Given the description of an element on the screen output the (x, y) to click on. 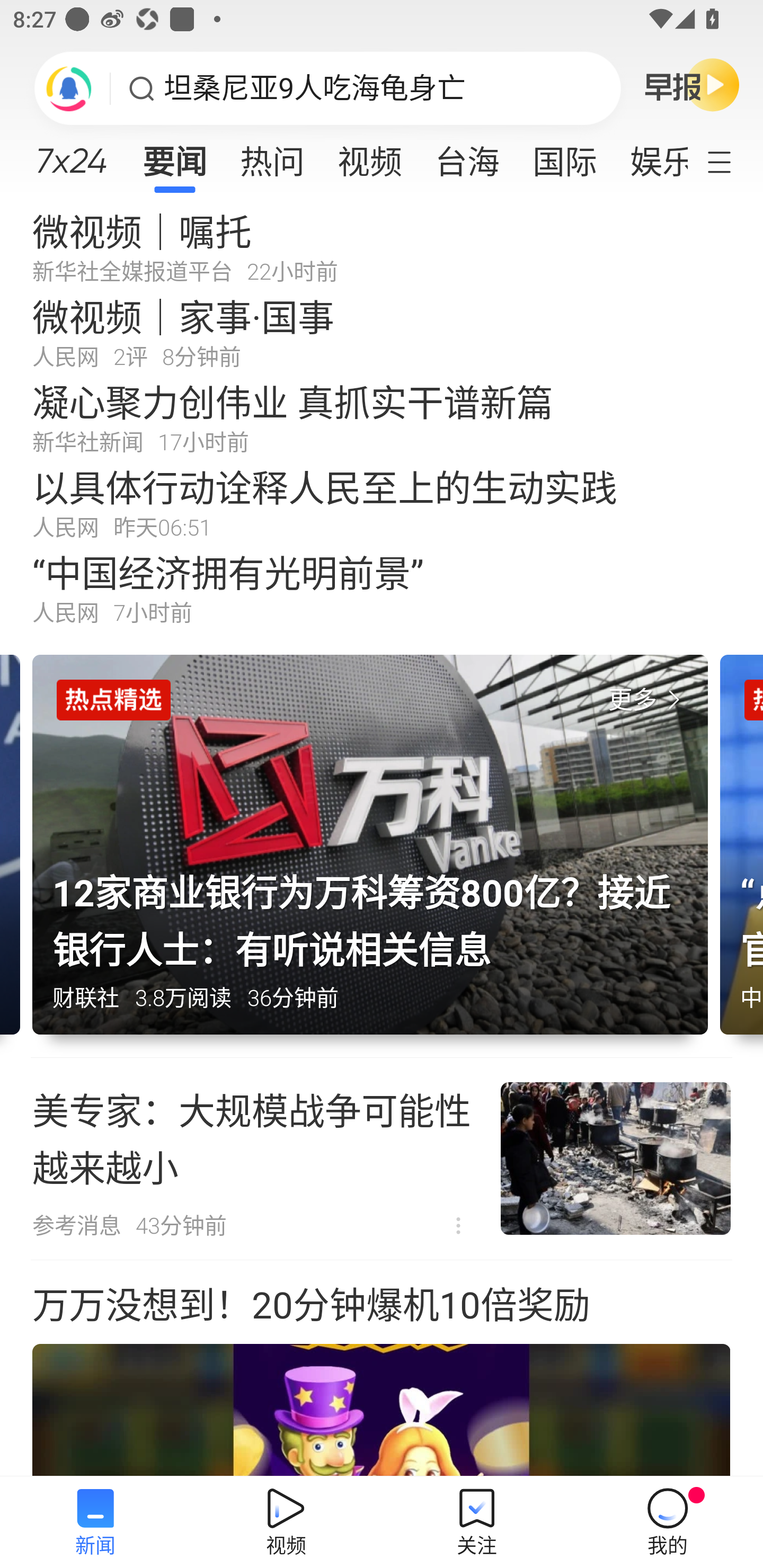
早晚报 (691, 84)
刷新 (68, 88)
坦桑尼亚9人吃海龟身亡 (314, 88)
7x24 (70, 154)
要闻 (174, 155)
热问 (272, 155)
视频 (369, 155)
台海 (466, 155)
国际 (564, 155)
娱乐 (650, 155)
 定制频道 (731, 160)
微视频｜嘱托 新华社全媒报道平台 22小时前 (381, 245)
微视频｜家事·国事 人民网 2评 8分钟前 (381, 331)
凝心聚力创伟业 真抓实干谱新篇 新华社新闻 17小时前 (381, 416)
以具体行动诠释人民至上的生动实践 人民网 昨天06:51 (381, 502)
“中国经济拥有光明前景” 人民网 7小时前 (381, 587)
更多  (648, 699)
美专家：大规模战争可能性越来越小 参考消息 43分钟前  不感兴趣 (381, 1158)
 不感兴趣 (458, 1226)
万万没想到！20分钟爆机10倍奖励 (381, 1368)
